Given the description of an element on the screen output the (x, y) to click on. 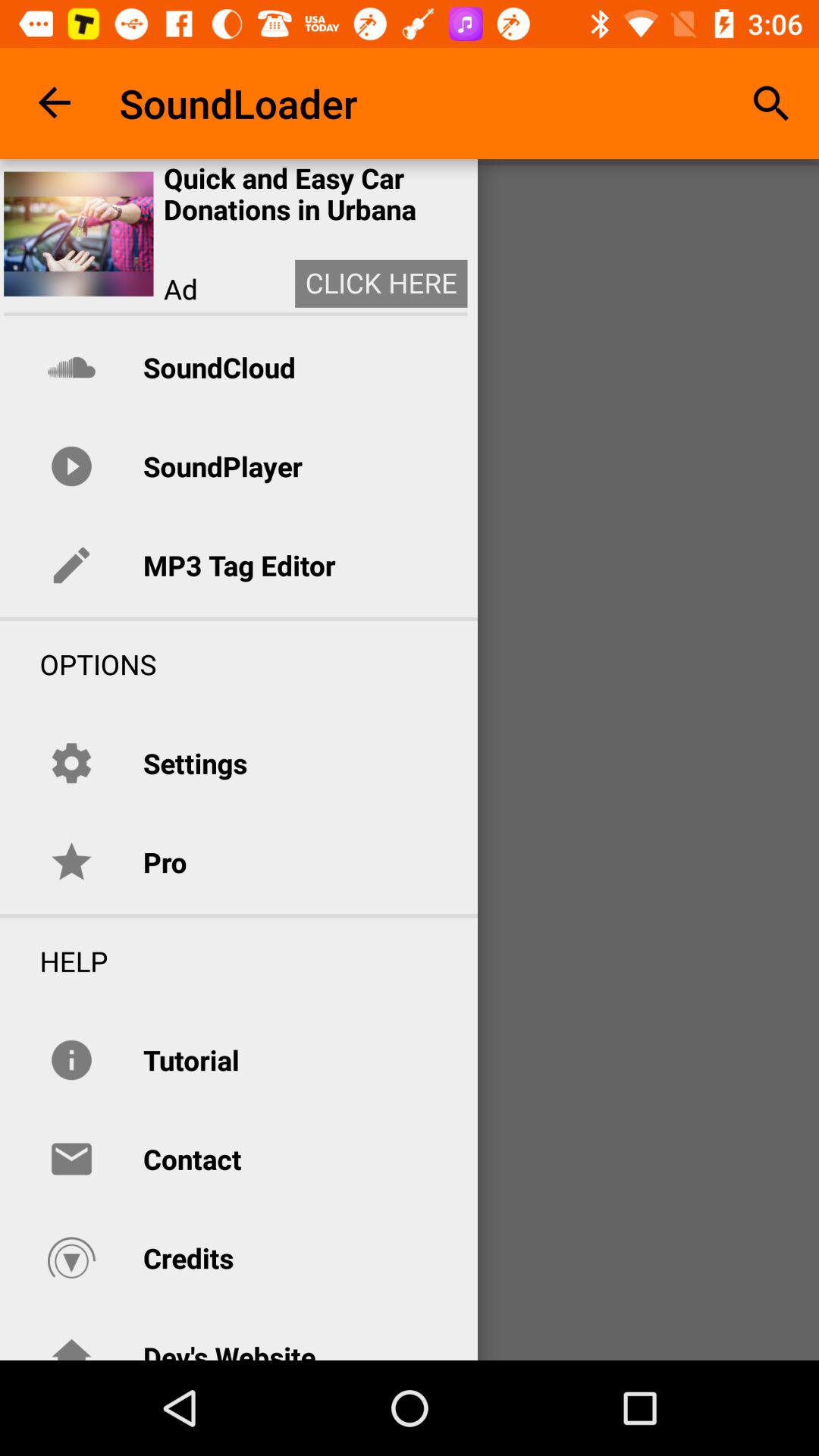
turn off the help icon (54, 960)
